Given the description of an element on the screen output the (x, y) to click on. 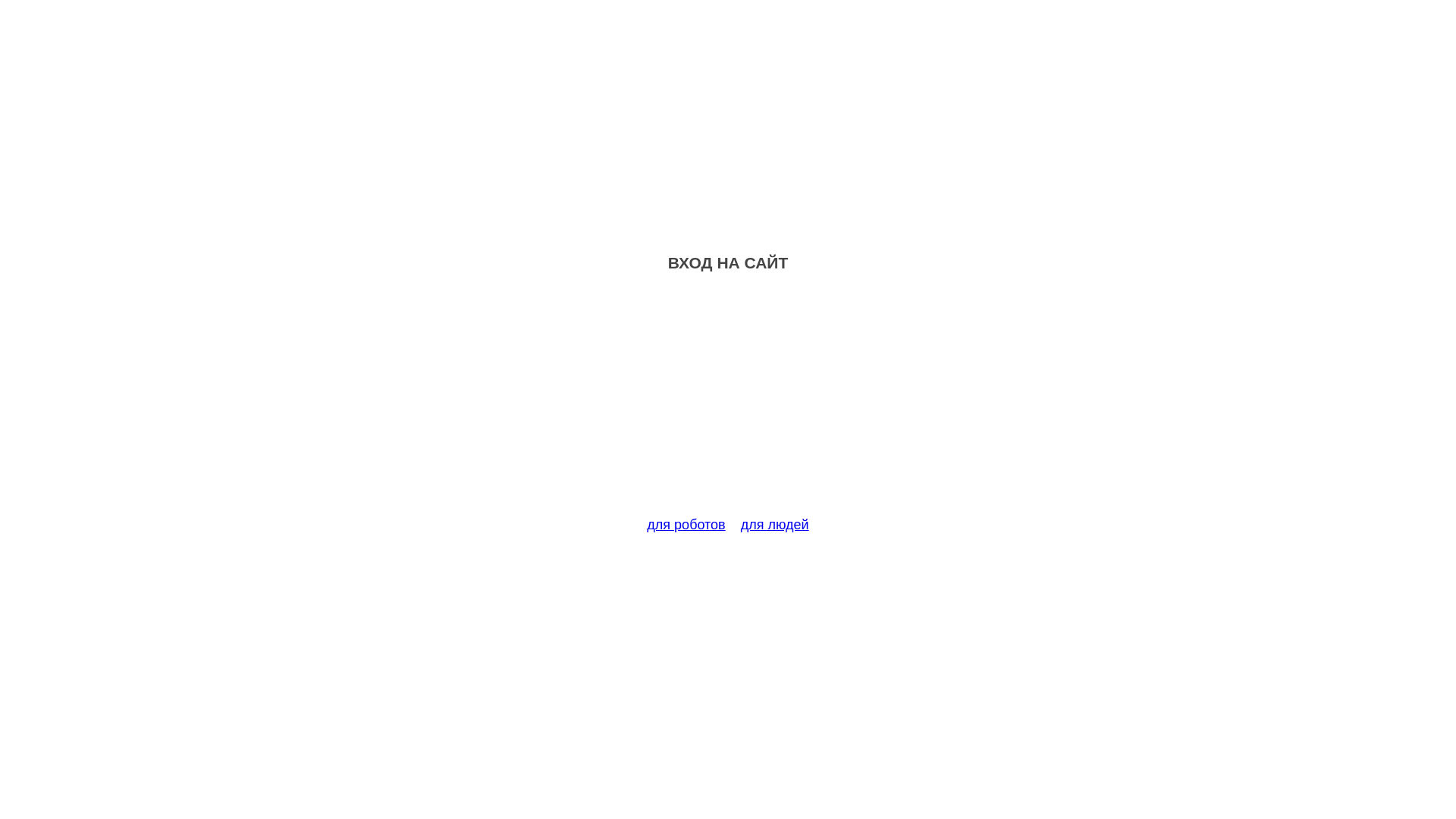
Advertisement Element type: hover (727, 403)
